Given the description of an element on the screen output the (x, y) to click on. 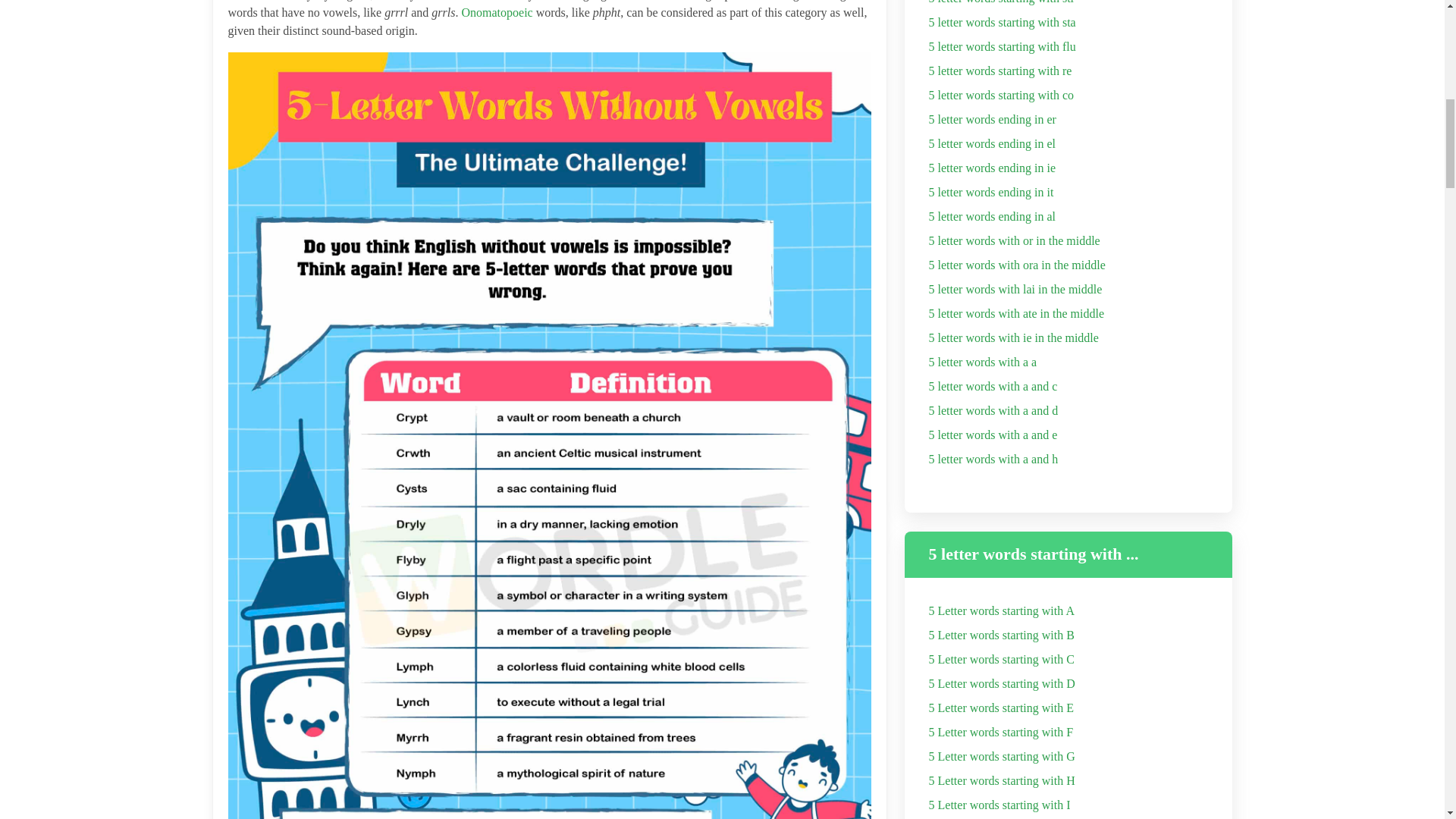
Onomatopoeic (496, 11)
